Given the description of an element on the screen output the (x, y) to click on. 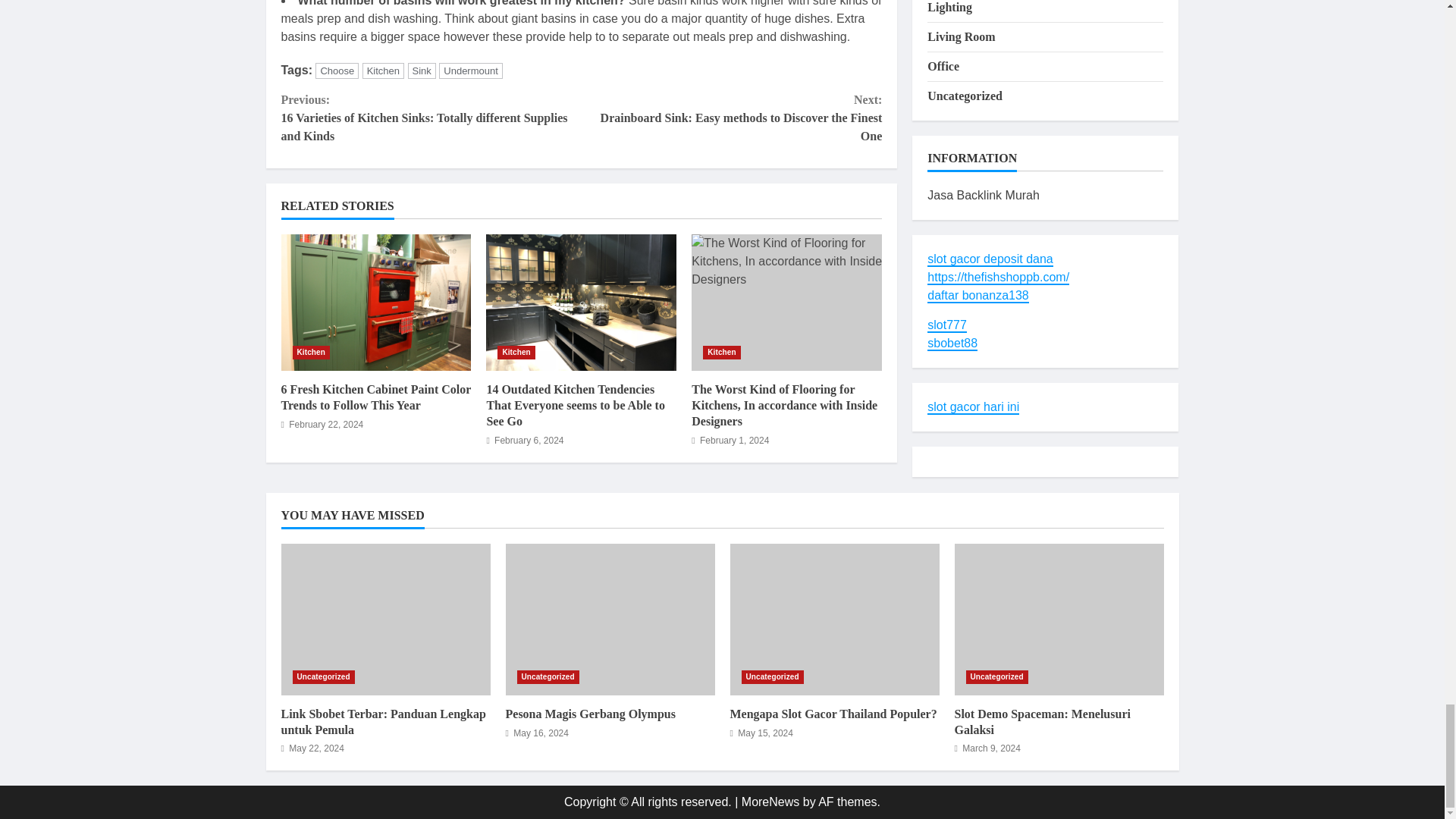
Choose (336, 70)
Kitchen (383, 70)
